Given the description of an element on the screen output the (x, y) to click on. 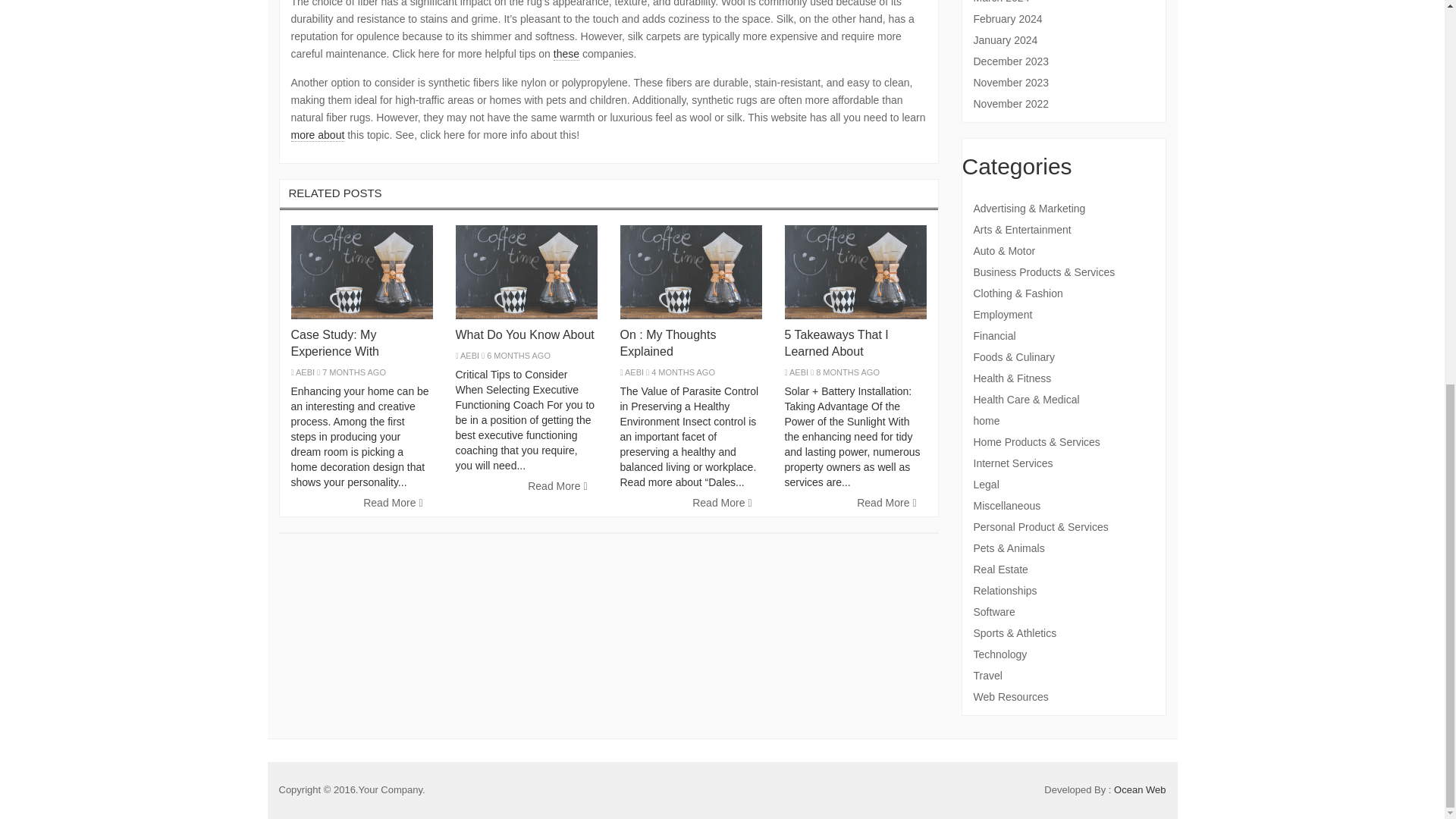
On : My Thoughts Explained (668, 342)
these (566, 53)
5 Takeaways That I Learned About (836, 342)
Read More (886, 503)
Read More (557, 486)
Case Study: My Experience With (335, 342)
Read More (721, 503)
Read More (392, 503)
more about (318, 134)
What Do You Know About (524, 334)
